Given the description of an element on the screen output the (x, y) to click on. 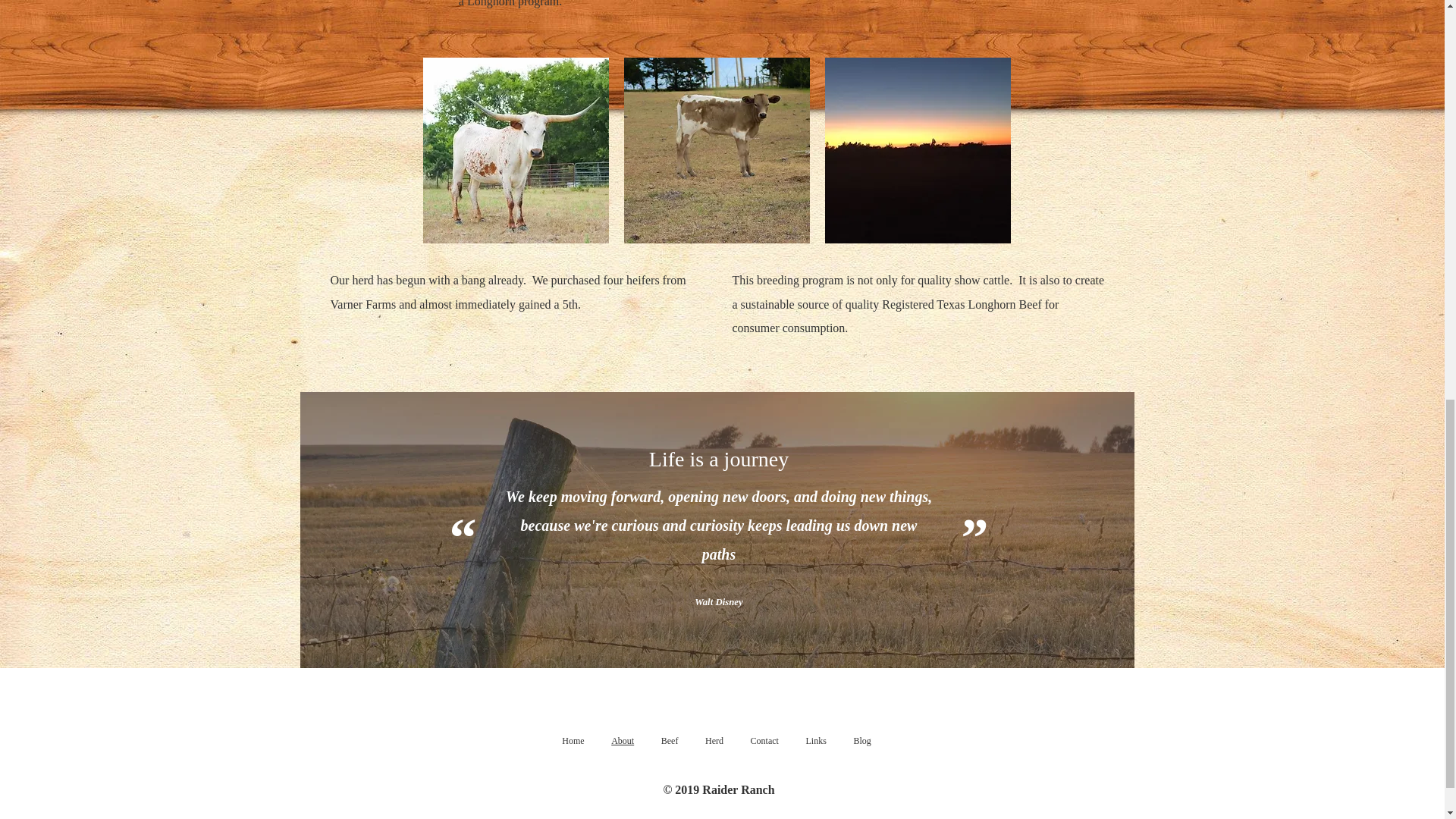
Blog (862, 740)
Beef (669, 740)
Contact (764, 740)
Links (816, 740)
Home (573, 740)
About (621, 740)
Herd (713, 740)
